Given the description of an element on the screen output the (x, y) to click on. 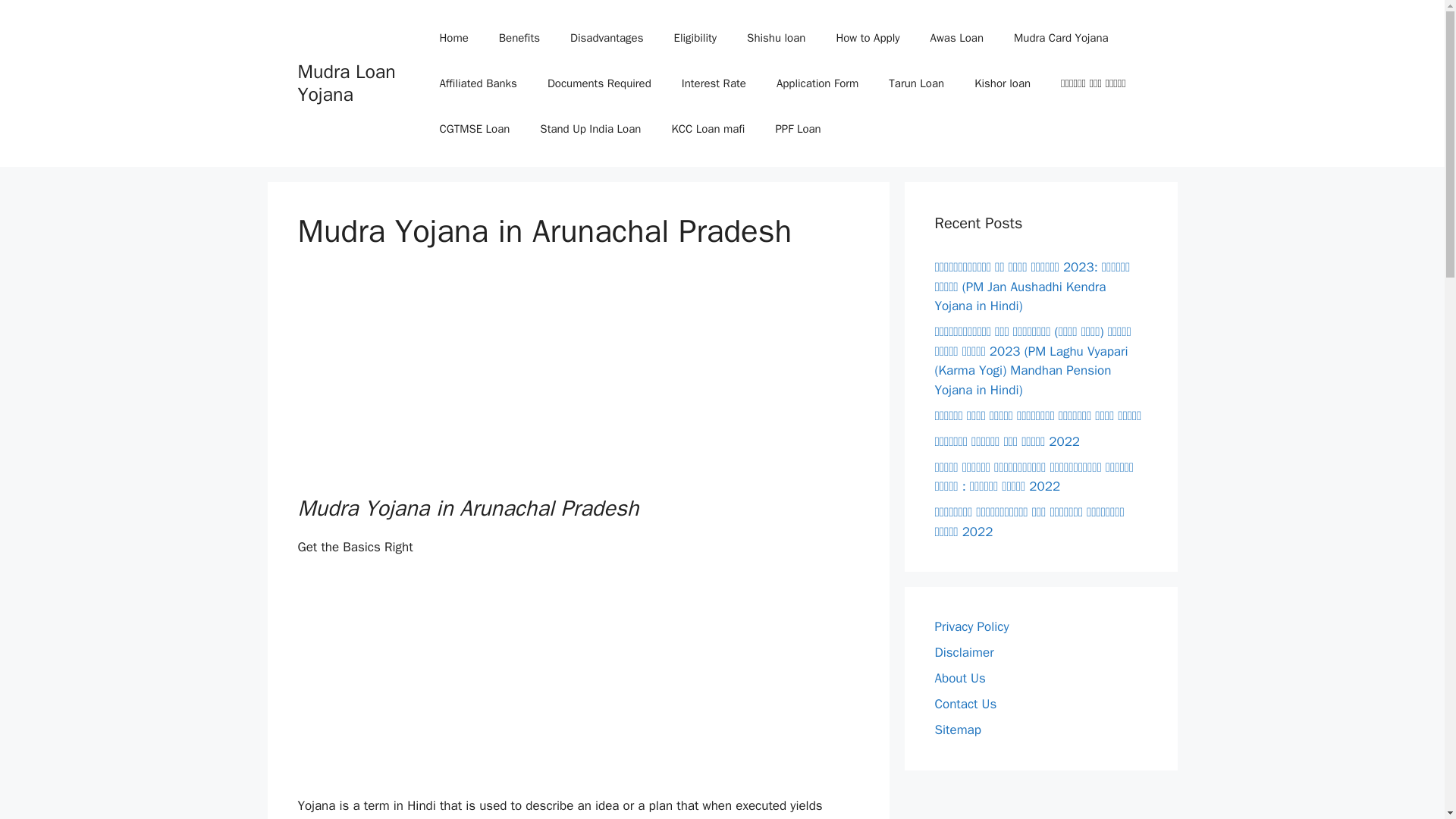
CGTMSE Loan (473, 128)
Shishu loan (776, 37)
Disadvantages (606, 37)
Sitemap (956, 729)
Tarun Loan (916, 83)
Mudra Card Yojana (1061, 37)
PPF Loan (797, 128)
Stand Up India Loan (590, 128)
Home (453, 37)
Advertisement (578, 682)
